Given the description of an element on the screen output the (x, y) to click on. 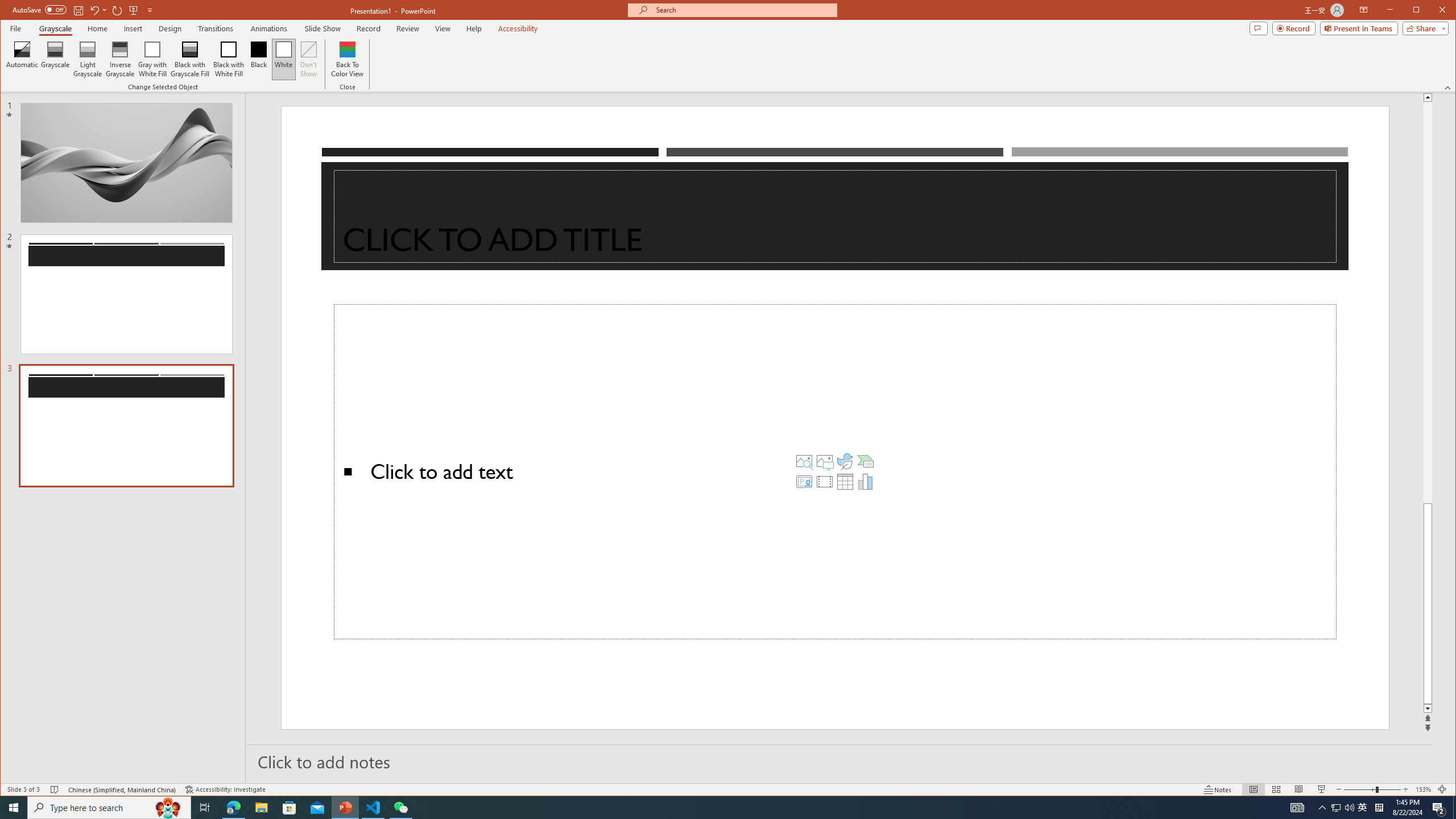
Automatic (22, 59)
Gray with White Fill (152, 59)
Black with White Fill (229, 59)
Content Placeholder (834, 471)
